Given the description of an element on the screen output the (x, y) to click on. 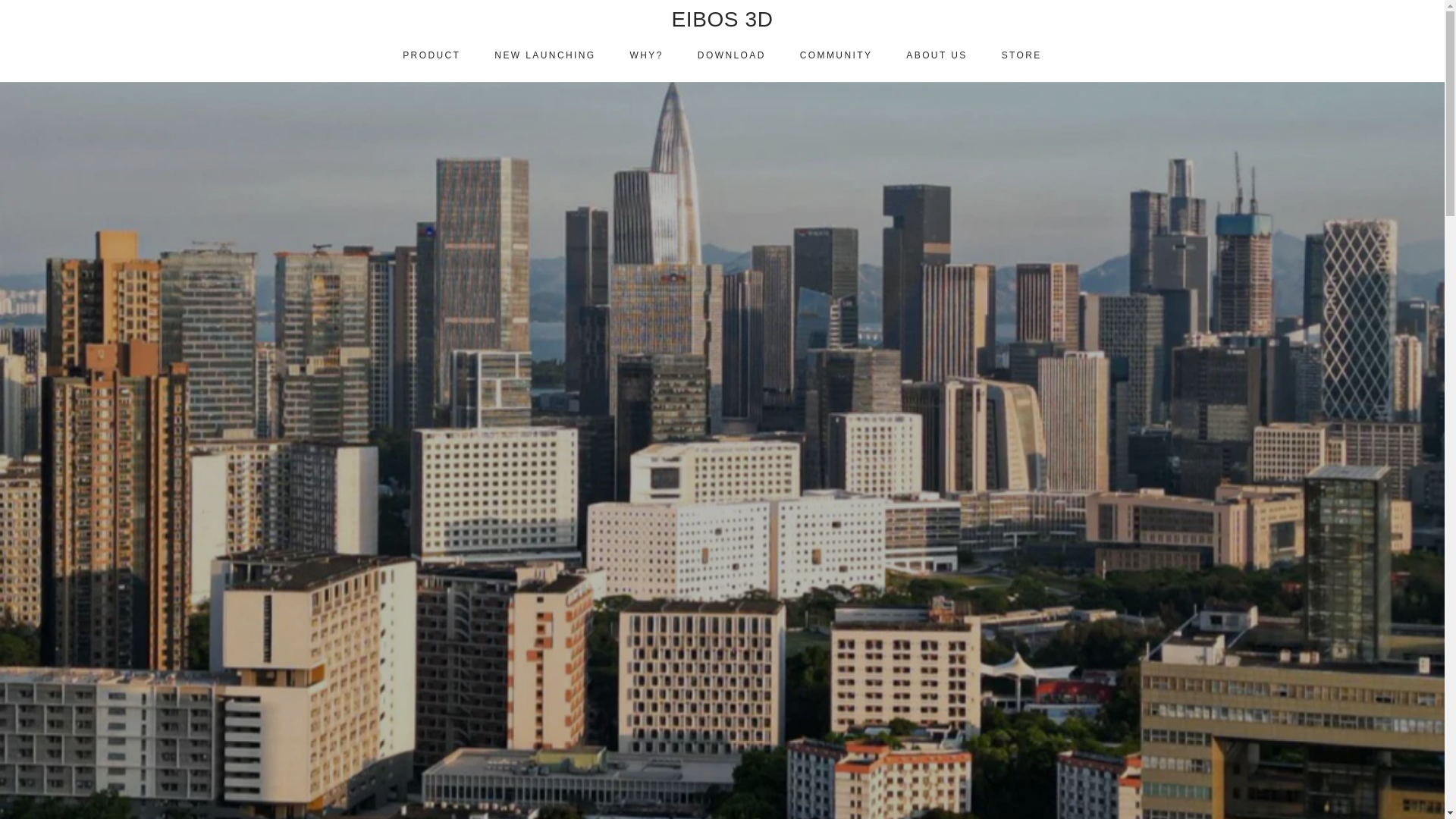
NEW LAUNCHING (545, 54)
COMMUNITY (836, 54)
EIBOS 3D (722, 19)
SKIP TO CONTENT (67, 14)
PRODUCT (431, 54)
STORE (1021, 54)
ABOUT US (936, 54)
WHY? (646, 54)
DOWNLOAD (731, 54)
